Given the description of an element on the screen output the (x, y) to click on. 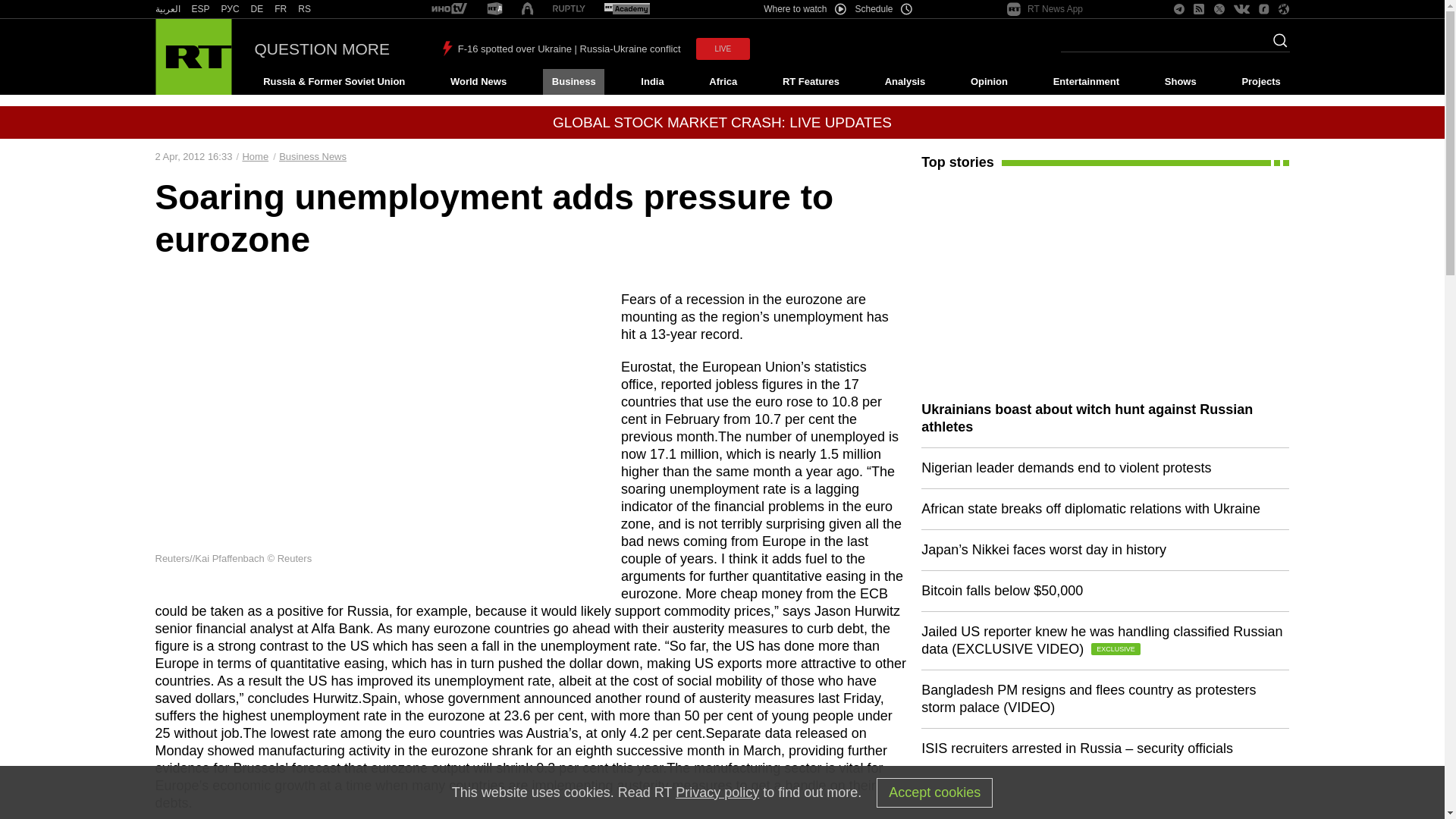
Search (1276, 44)
RT  (256, 9)
LIVE (723, 48)
Where to watch (803, 9)
RT  (199, 9)
Analysis (905, 81)
Entertainment (1085, 81)
RT  (304, 9)
RT  (448, 9)
DE (256, 9)
RS (304, 9)
RT  (494, 9)
India (651, 81)
World News (478, 81)
Business (573, 81)
